Given the description of an element on the screen output the (x, y) to click on. 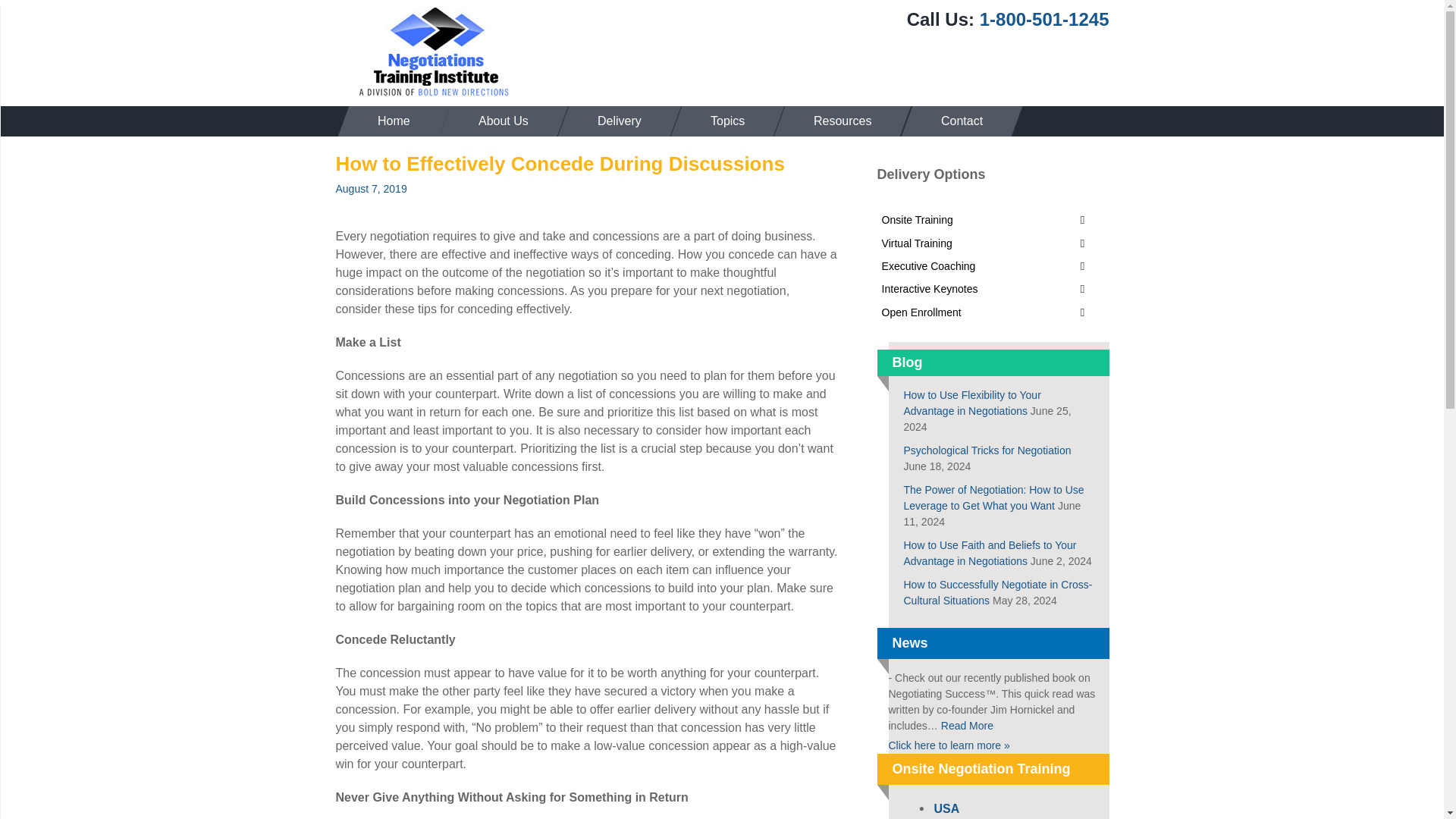
Negotiations Training Institute (433, 51)
Home (387, 121)
About Us (498, 121)
August 7, 2019 (370, 188)
1-800-501-1245 (1044, 19)
Delivery (613, 121)
About Us (498, 121)
Resources (836, 121)
Delivery (613, 121)
Topics (722, 121)
Home (387, 121)
1-800-501-1245 (1044, 19)
Contact (955, 121)
